Given the description of an element on the screen output the (x, y) to click on. 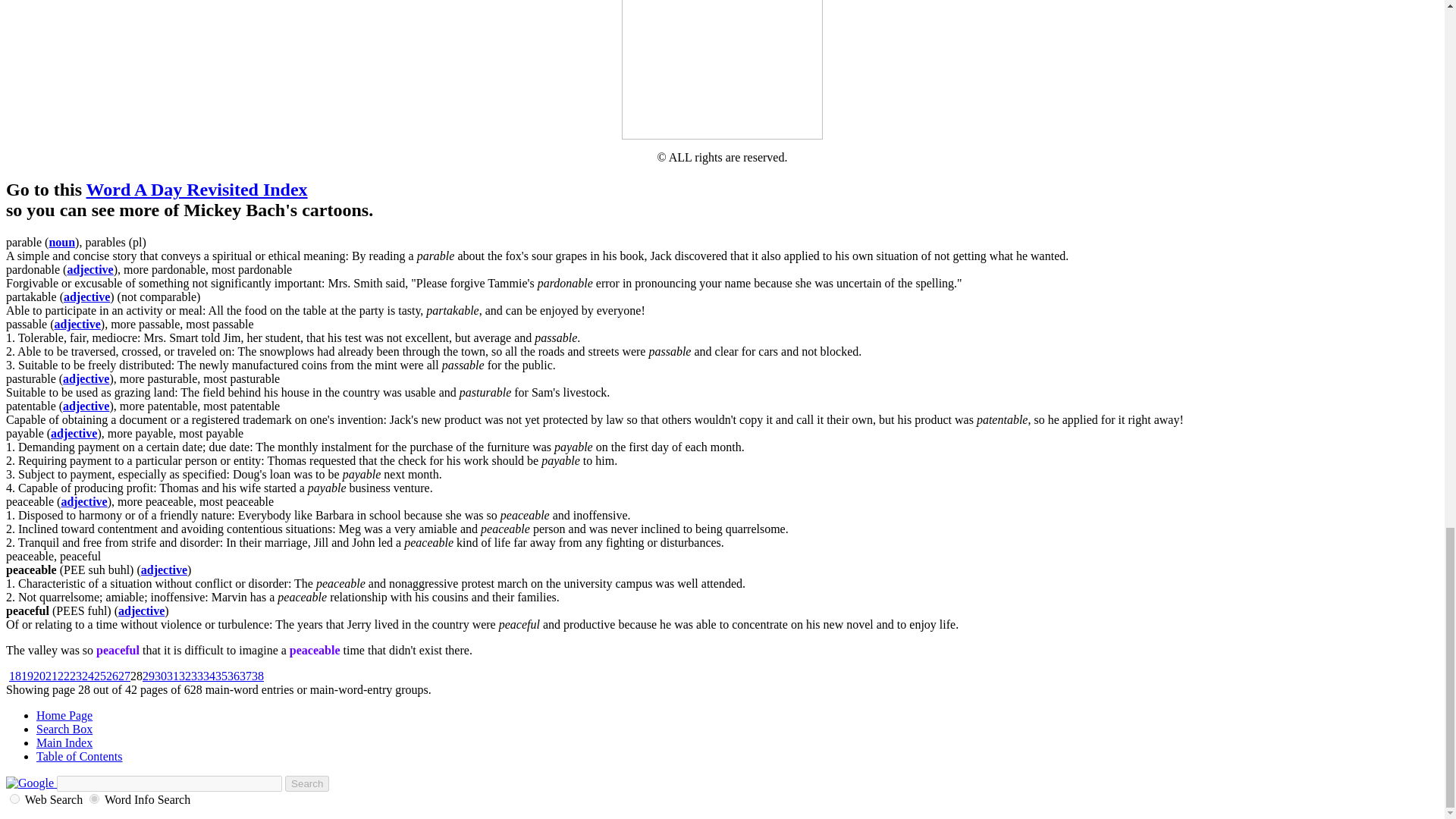
36 (233, 675)
adjective (77, 323)
19 (27, 675)
34 (209, 675)
27 (124, 675)
adjective (85, 378)
31 (173, 675)
adjective (89, 269)
adjective (73, 432)
33 (196, 675)
Home Page (64, 715)
20 (39, 675)
18 (14, 675)
24 (87, 675)
37 (245, 675)
